Given the description of an element on the screen output the (x, y) to click on. 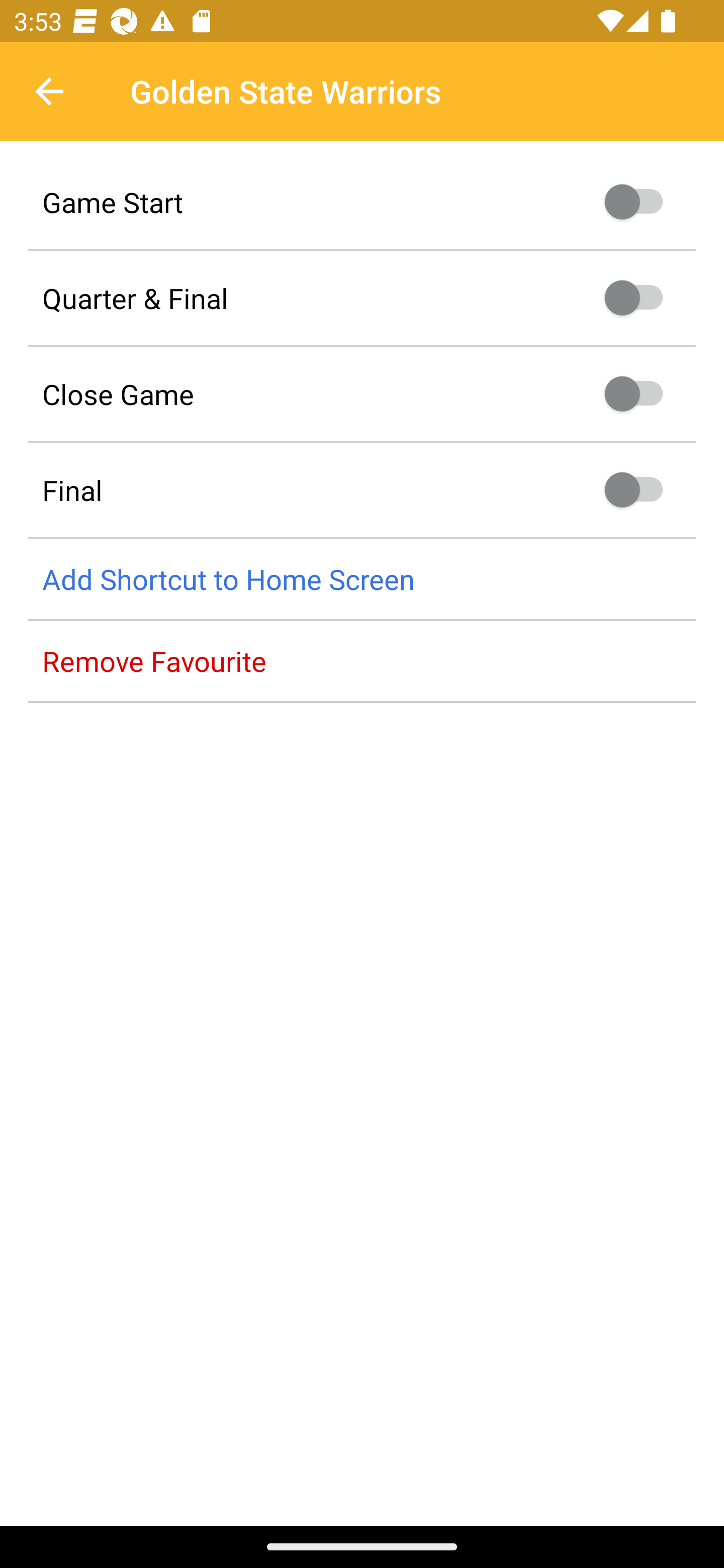
Navigate up (49, 91)
Add Shortcut to Home Screen (362, 579)
Remove Favourite (362, 661)
